Given the description of an element on the screen output the (x, y) to click on. 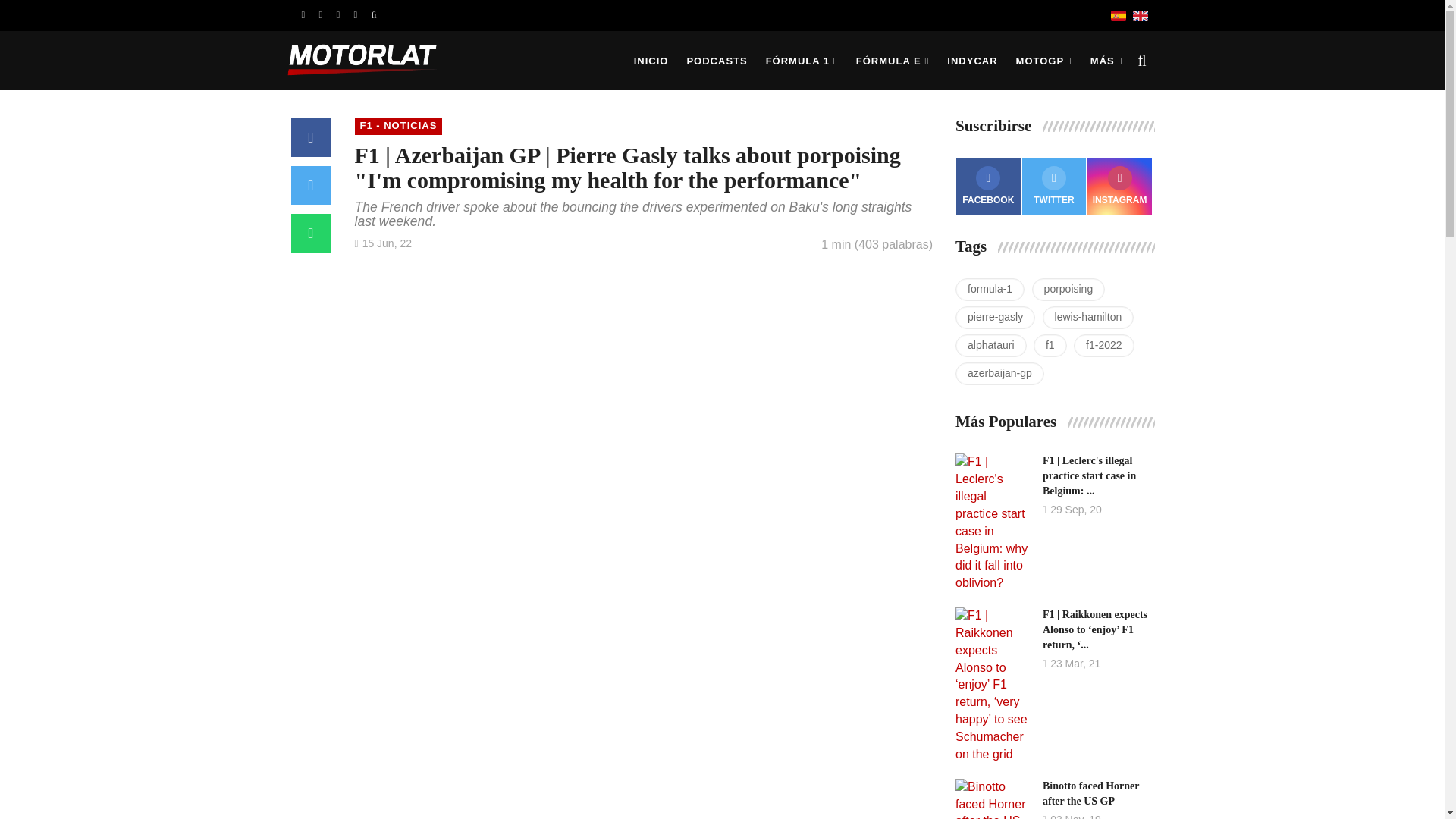
PODCASTS (716, 61)
MOTOGP (1044, 61)
INDYCAR (971, 61)
